Given the description of an element on the screen output the (x, y) to click on. 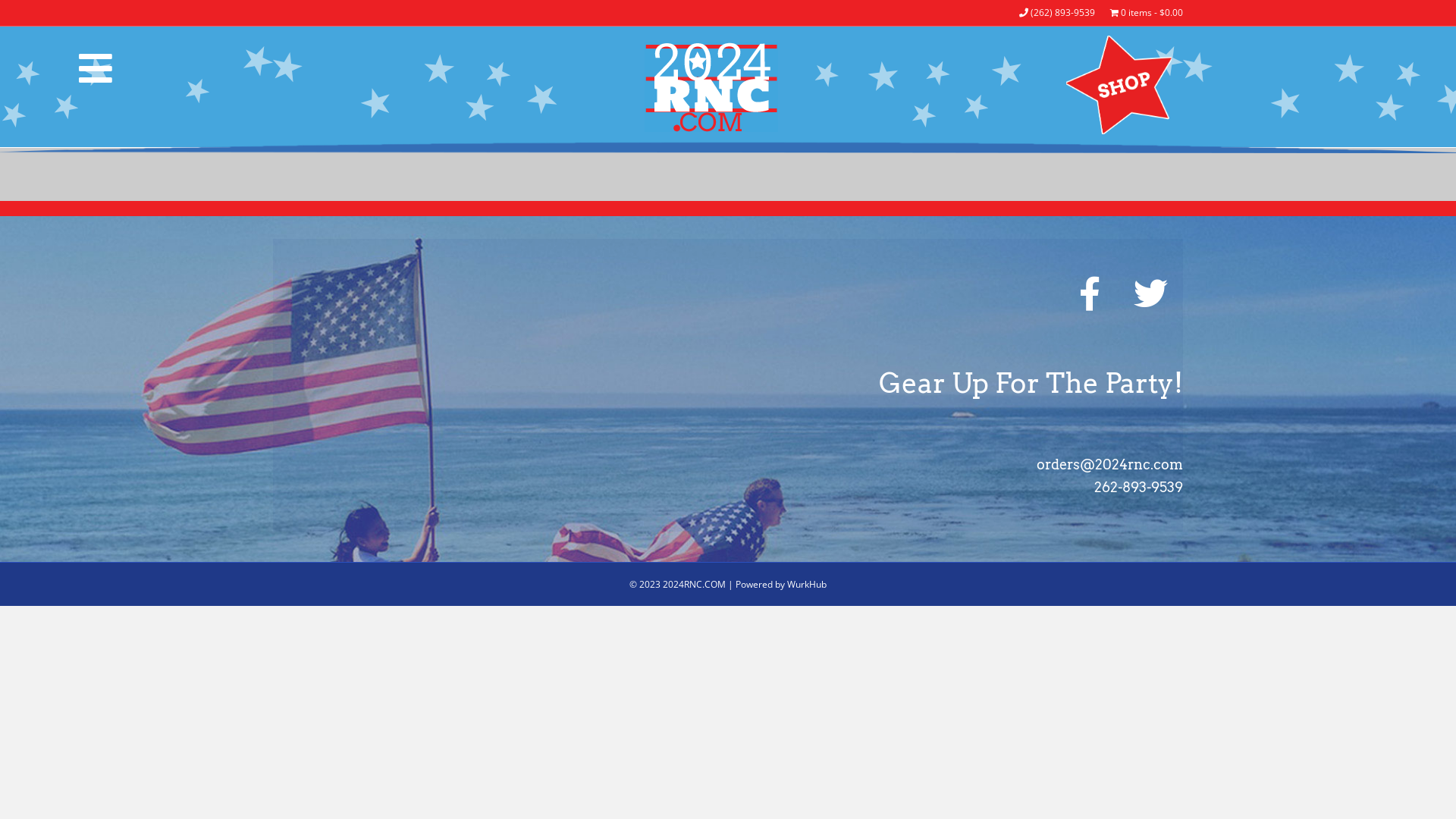
Menu Element type: text (95, 67)
orders@2024rnc.com Element type: text (1109, 464)
0 items$0.00 Element type: text (1146, 12)
WurkHub Element type: text (806, 583)
(262) 893-9539 Element type: text (1056, 12)
262-893-9539 Element type: text (1138, 487)
